Given the description of an element on the screen output the (x, y) to click on. 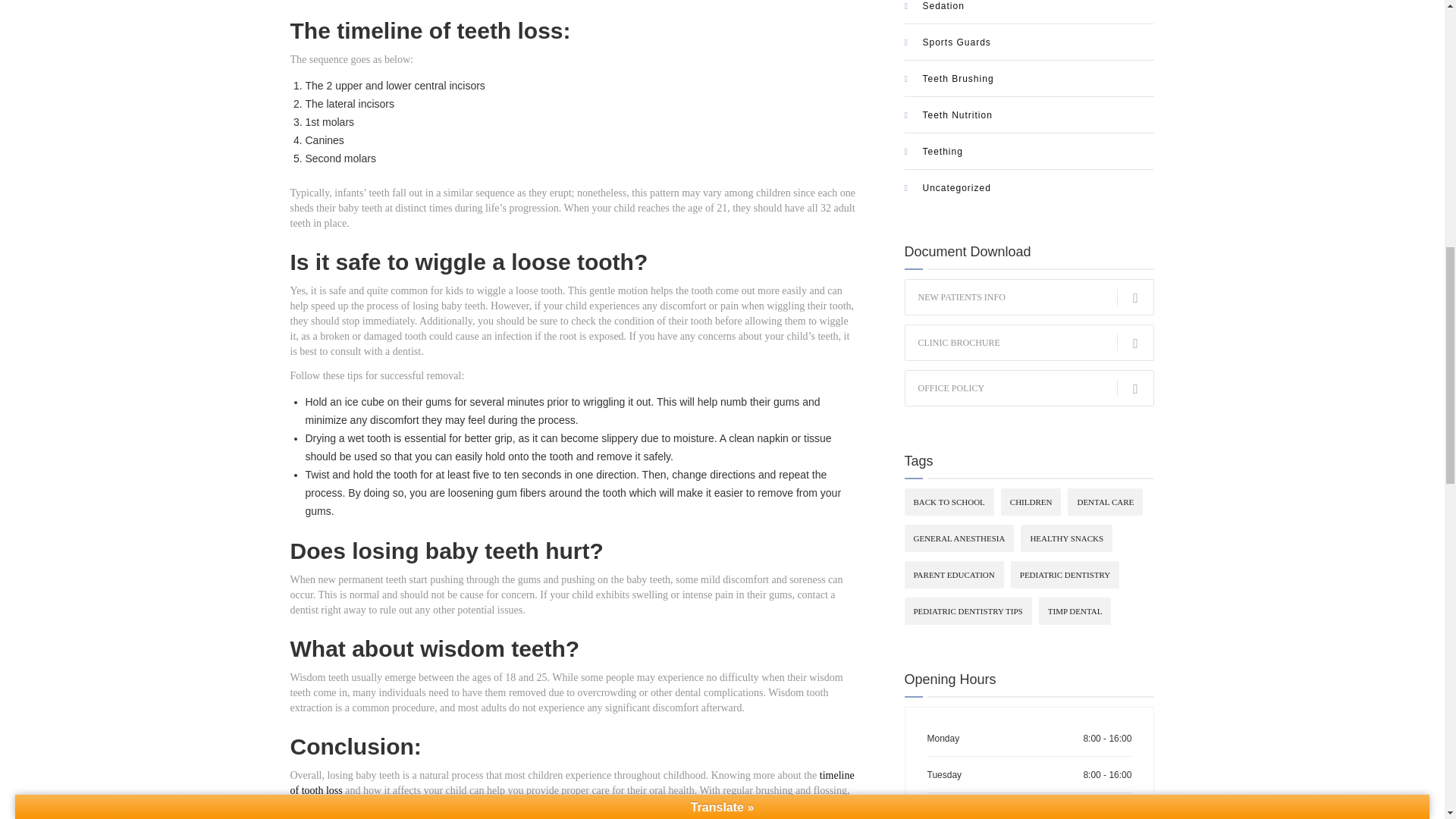
timeline of tooth loss (571, 782)
